Given the description of an element on the screen output the (x, y) to click on. 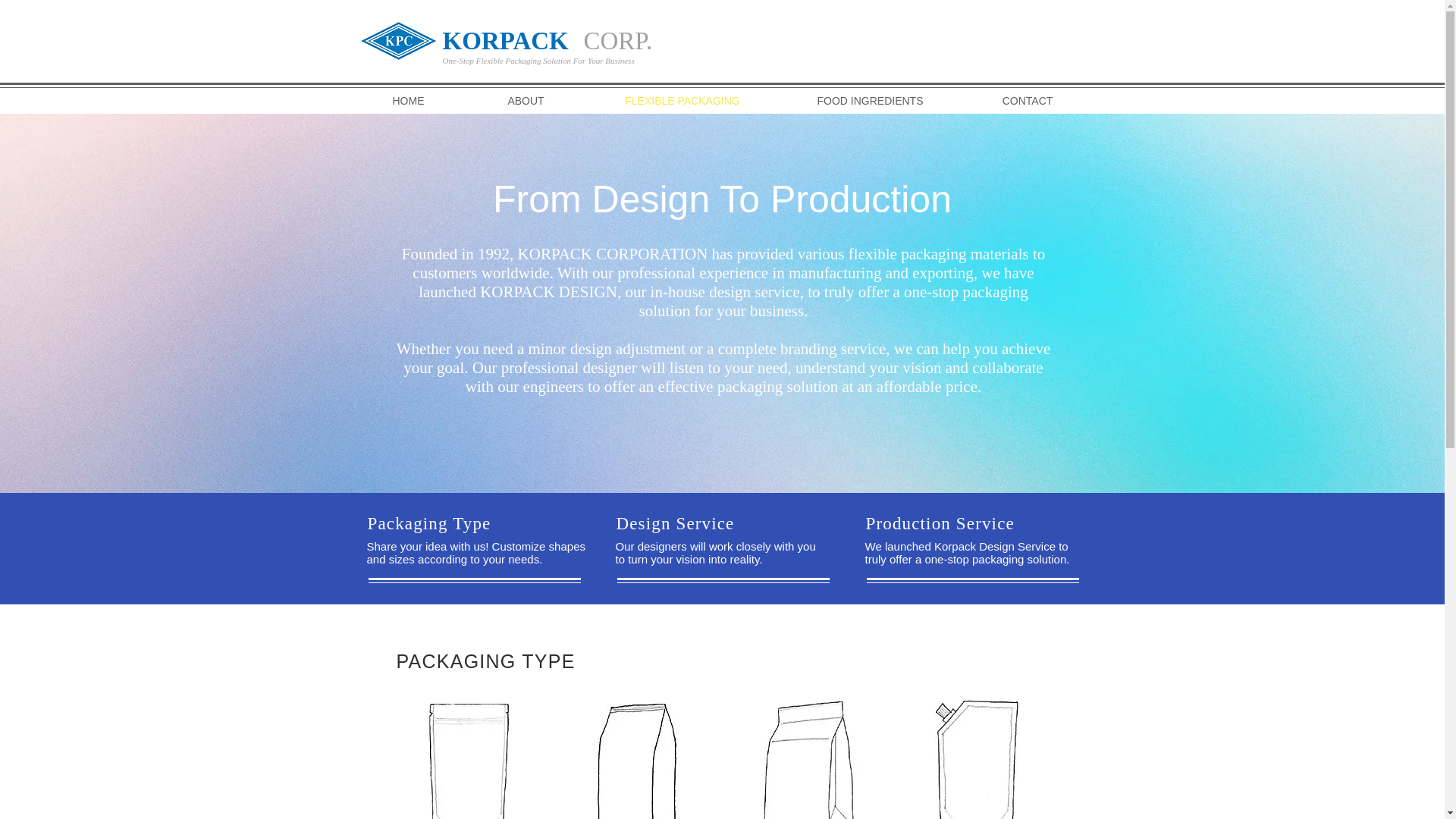
PACKAGING TYPE (485, 660)
FOOD INGREDIENTS (869, 100)
Korpack Corporation Logo (397, 41)
KORPACK (505, 40)
FLEXIBLE PACKAGING (681, 100)
HOME (407, 100)
CONTACT (1027, 100)
CORP. (617, 40)
ABOUT (525, 100)
